Given the description of an element on the screen output the (x, y) to click on. 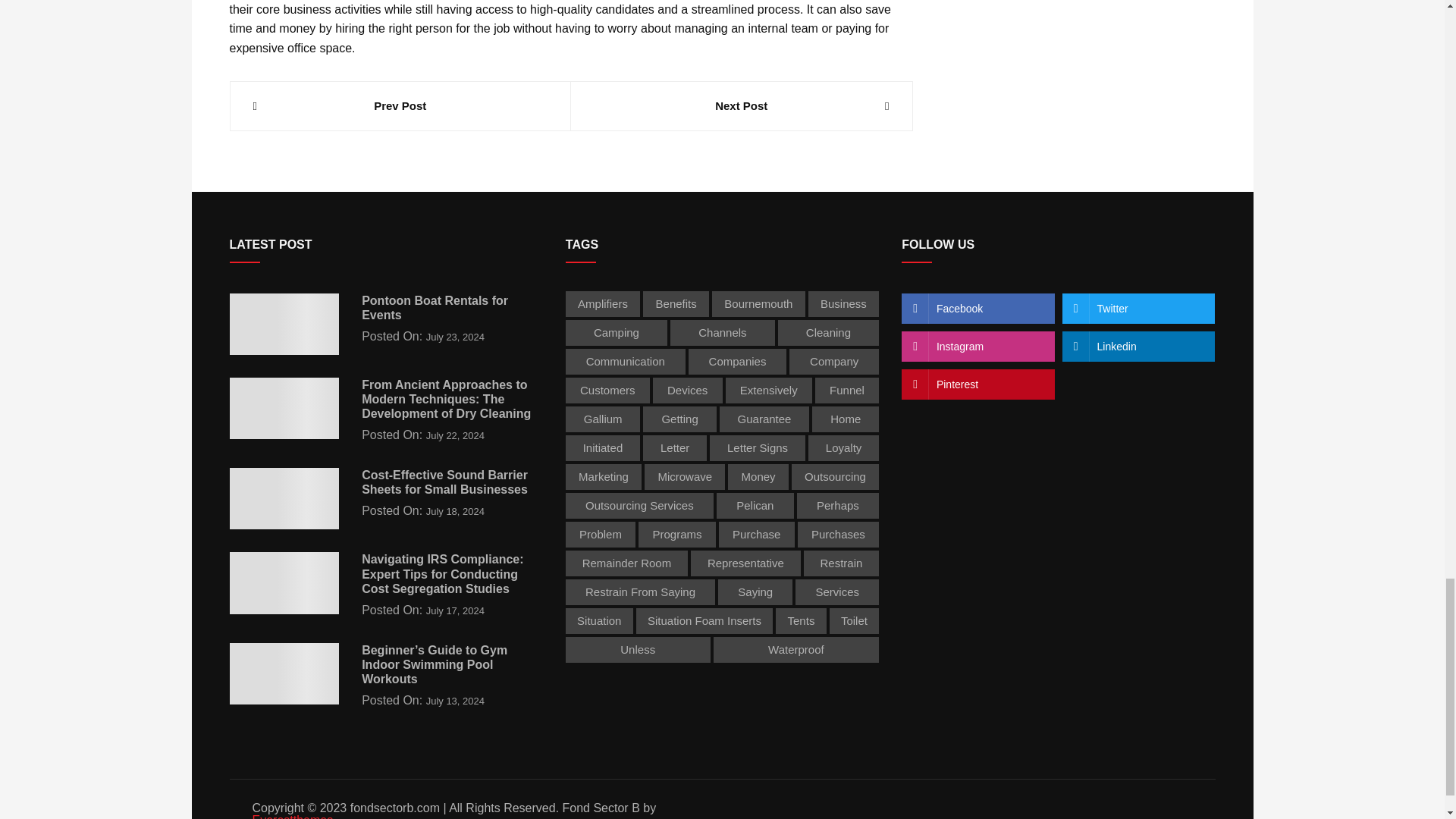
Next Post (741, 106)
Prev Post (400, 106)
